Given the description of an element on the screen output the (x, y) to click on. 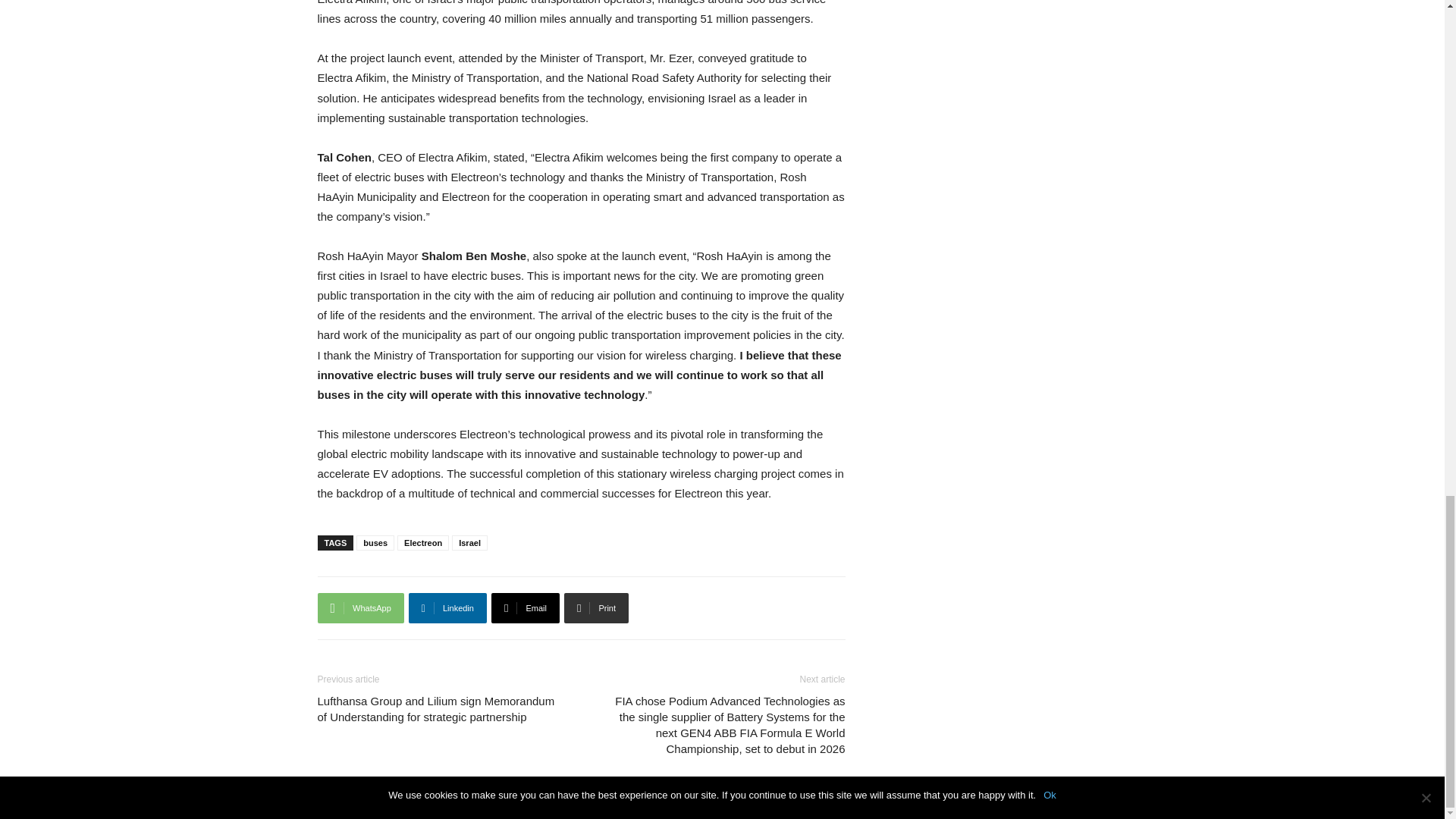
Linkedin (447, 607)
Print (596, 607)
WhatsApp (360, 607)
Email (525, 607)
